Given the description of an element on the screen output the (x, y) to click on. 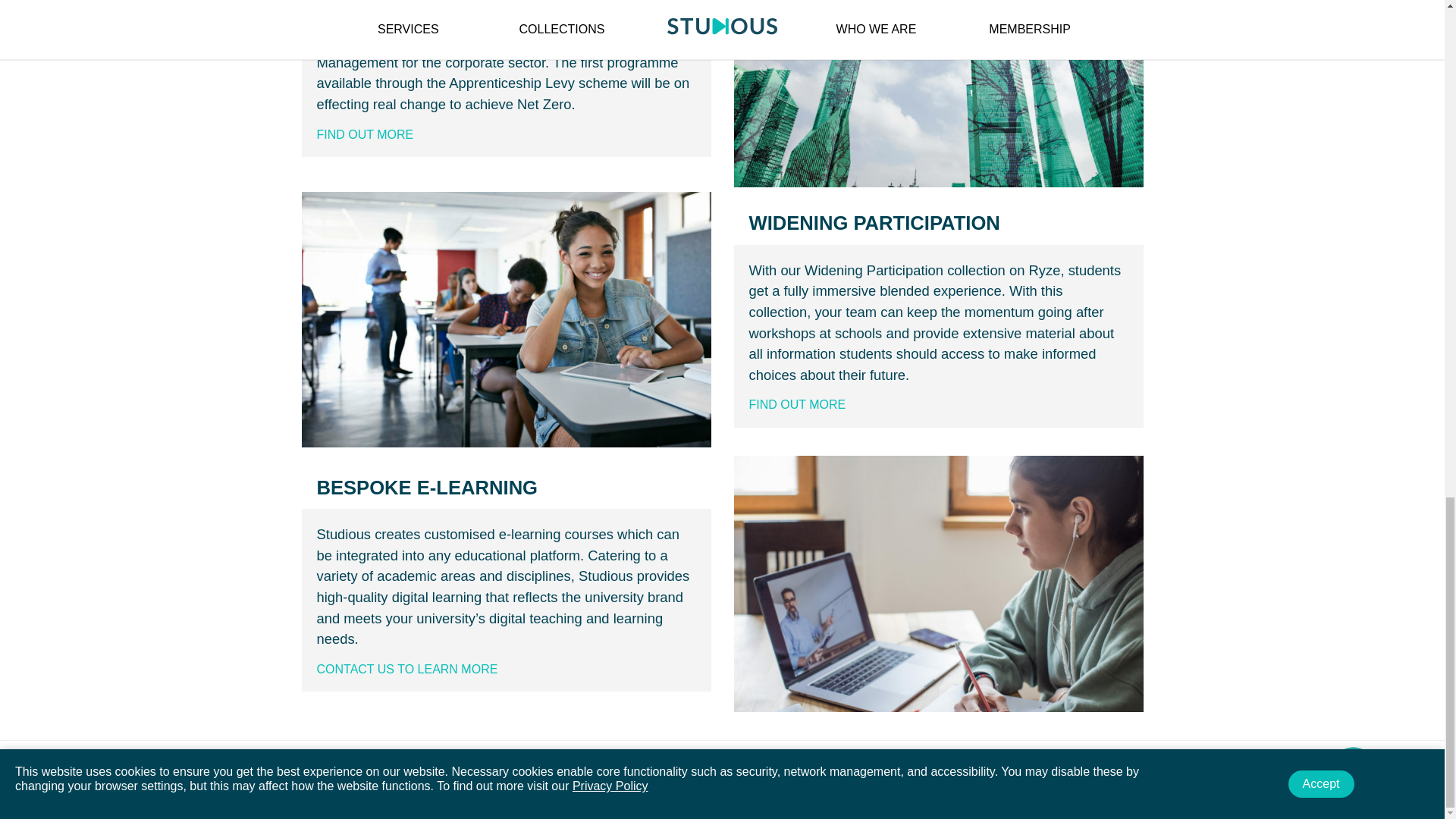
Videos (469, 756)
FIND OUT MORE (797, 404)
Privacy Policy (371, 756)
FIND OUT MORE (365, 133)
Sitemap (518, 756)
Blog (430, 756)
CONTACT US TO LEARN MORE (407, 668)
